Given the description of an element on the screen output the (x, y) to click on. 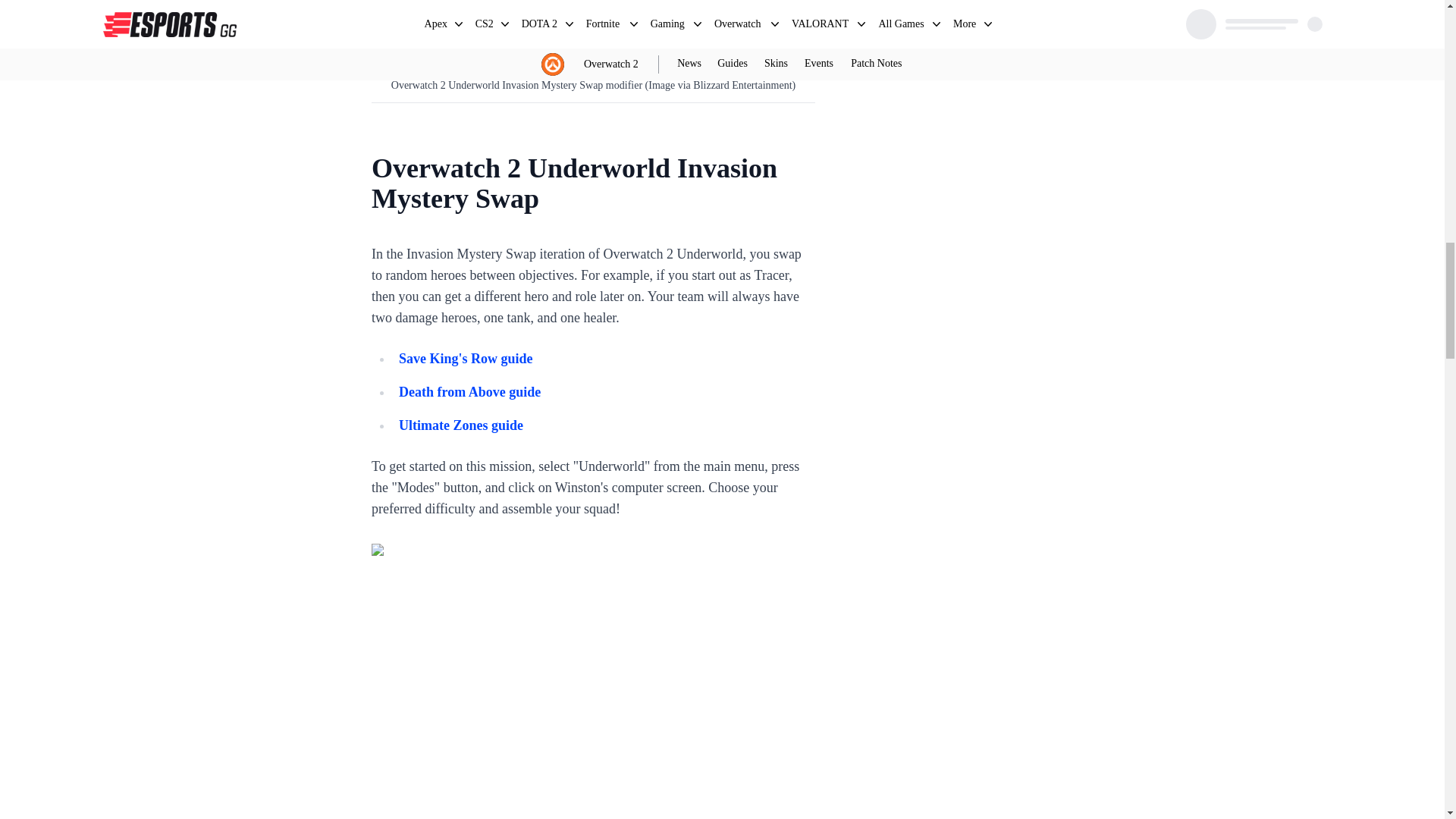
Ultimate Zones guide (460, 425)
Death from Above guide (469, 391)
Save King's Row guide (465, 358)
